Given the description of an element on the screen output the (x, y) to click on. 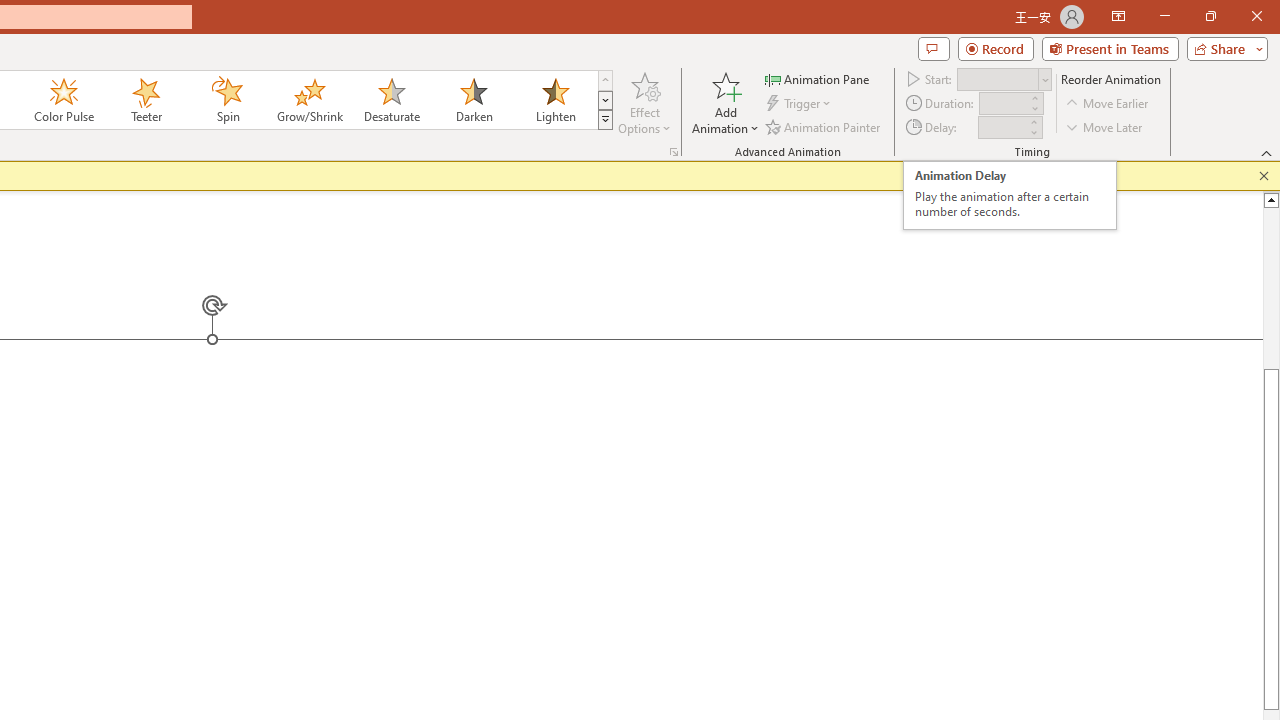
Move Earlier (1107, 103)
Close this message (1263, 176)
Grow/Shrink (309, 100)
Add Animation (725, 102)
Animation Pane (818, 78)
Color Pulse (63, 100)
Effect Options (644, 102)
Animation Delay (1002, 127)
Less (1033, 132)
